Given the description of an element on the screen output the (x, y) to click on. 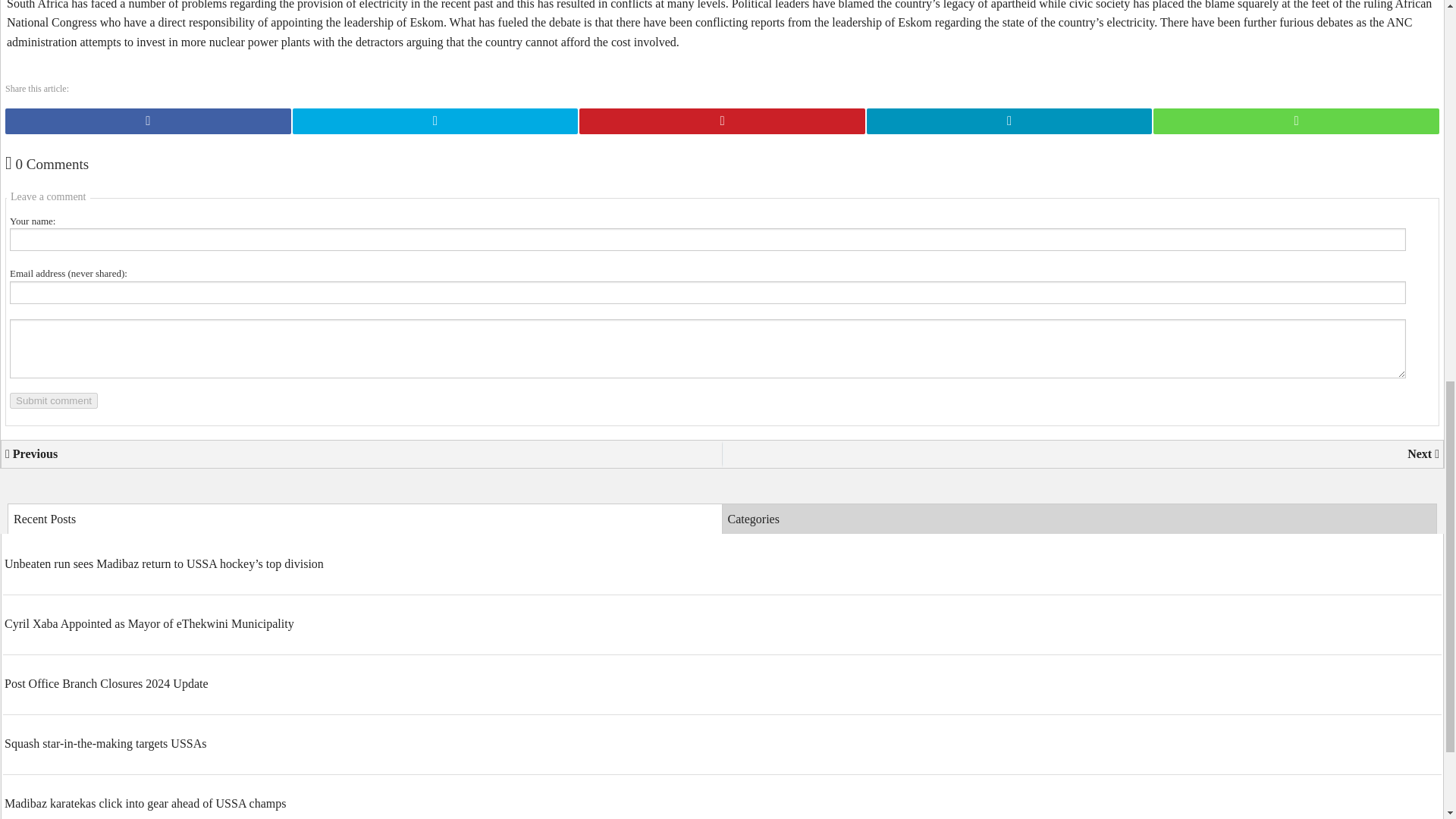
Previous (361, 453)
Submit comment (53, 400)
Submit comment (53, 400)
